Given the description of an element on the screen output the (x, y) to click on. 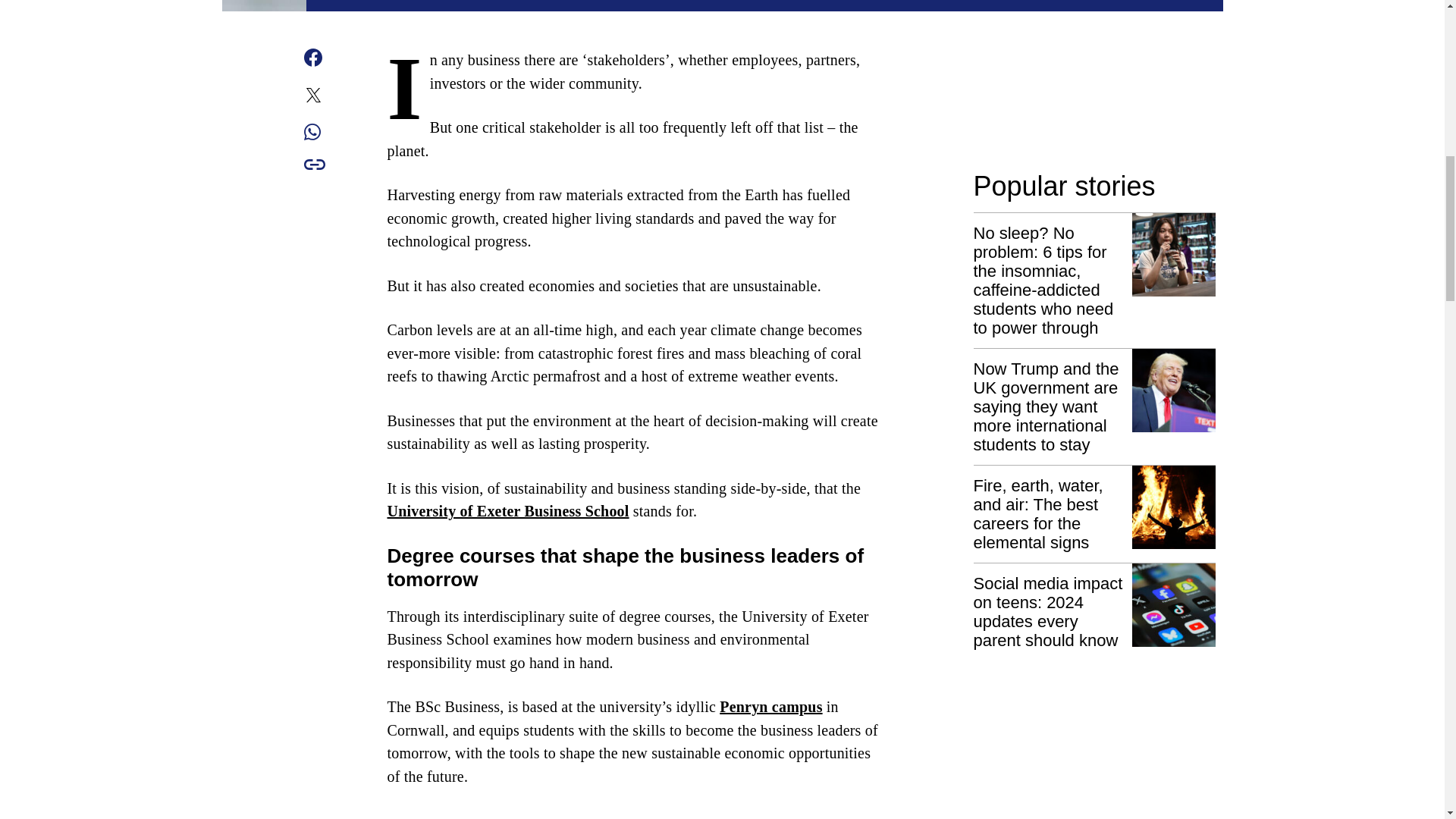
Penryn campus (770, 706)
University of Exeter Business School (507, 510)
